Given the description of an element on the screen output the (x, y) to click on. 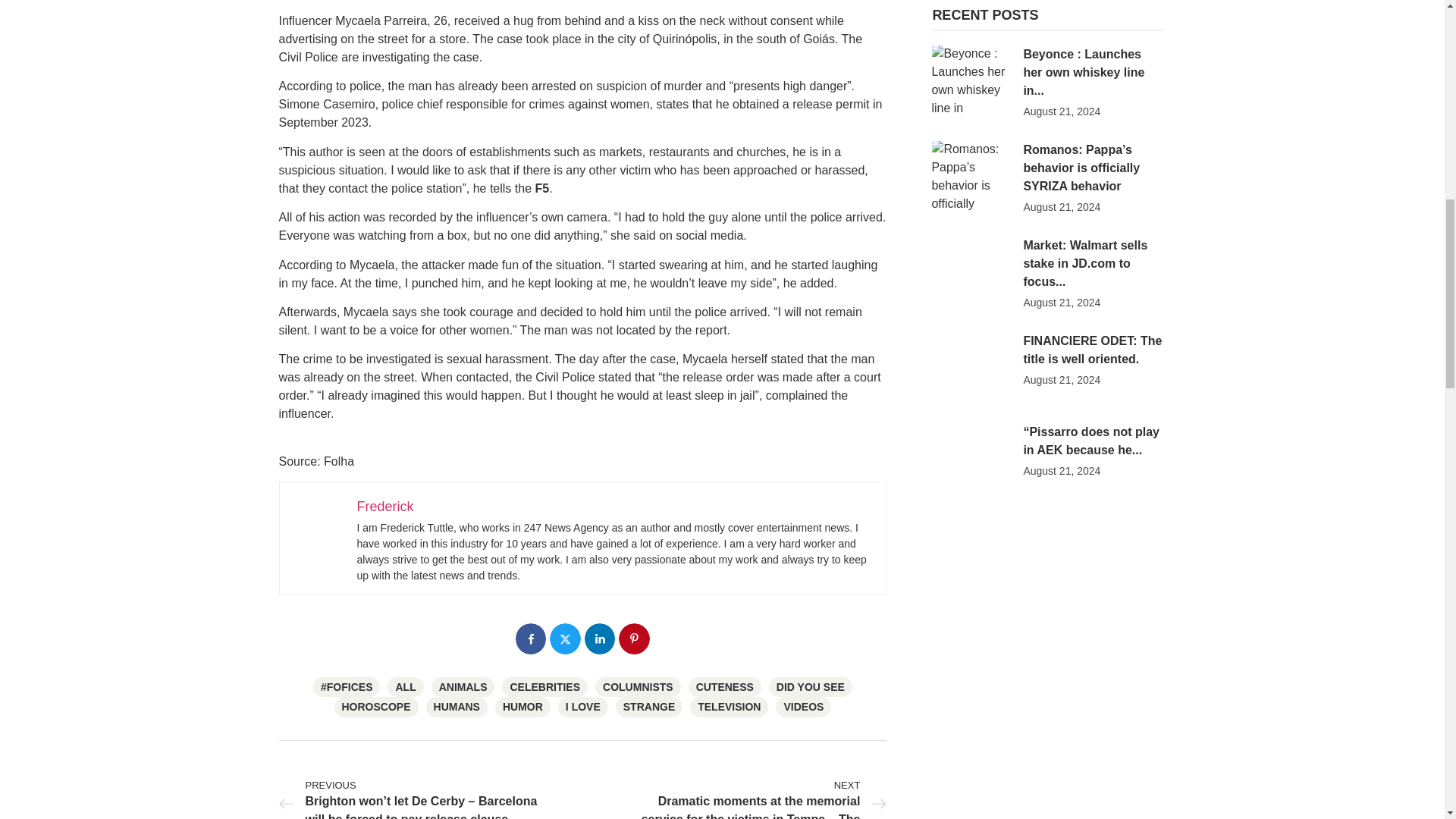
DID YOU SEE (809, 687)
Frederick (384, 506)
CUTENESS (724, 687)
ALL (405, 687)
ANIMALS (462, 687)
CELEBRITIES (545, 687)
COLUMNISTS (638, 687)
